Given the description of an element on the screen output the (x, y) to click on. 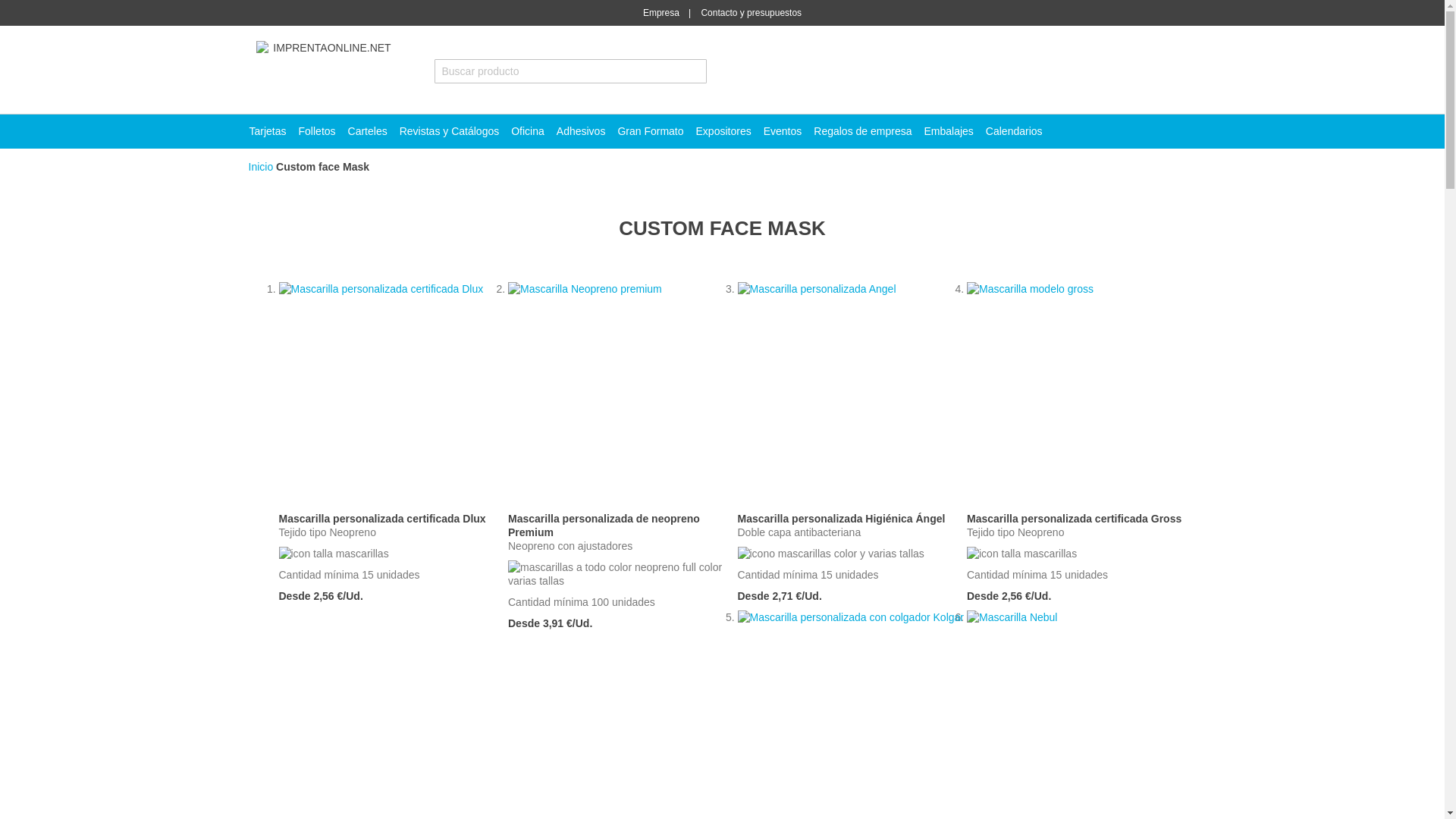
Tarjetas (267, 131)
Imprentaonline.net (326, 69)
Carteles (367, 131)
contacto (751, 12)
Folletos (317, 131)
Empresa (670, 12)
Oficina (527, 131)
Contacto y presupuestos (751, 12)
